Given the description of an element on the screen output the (x, y) to click on. 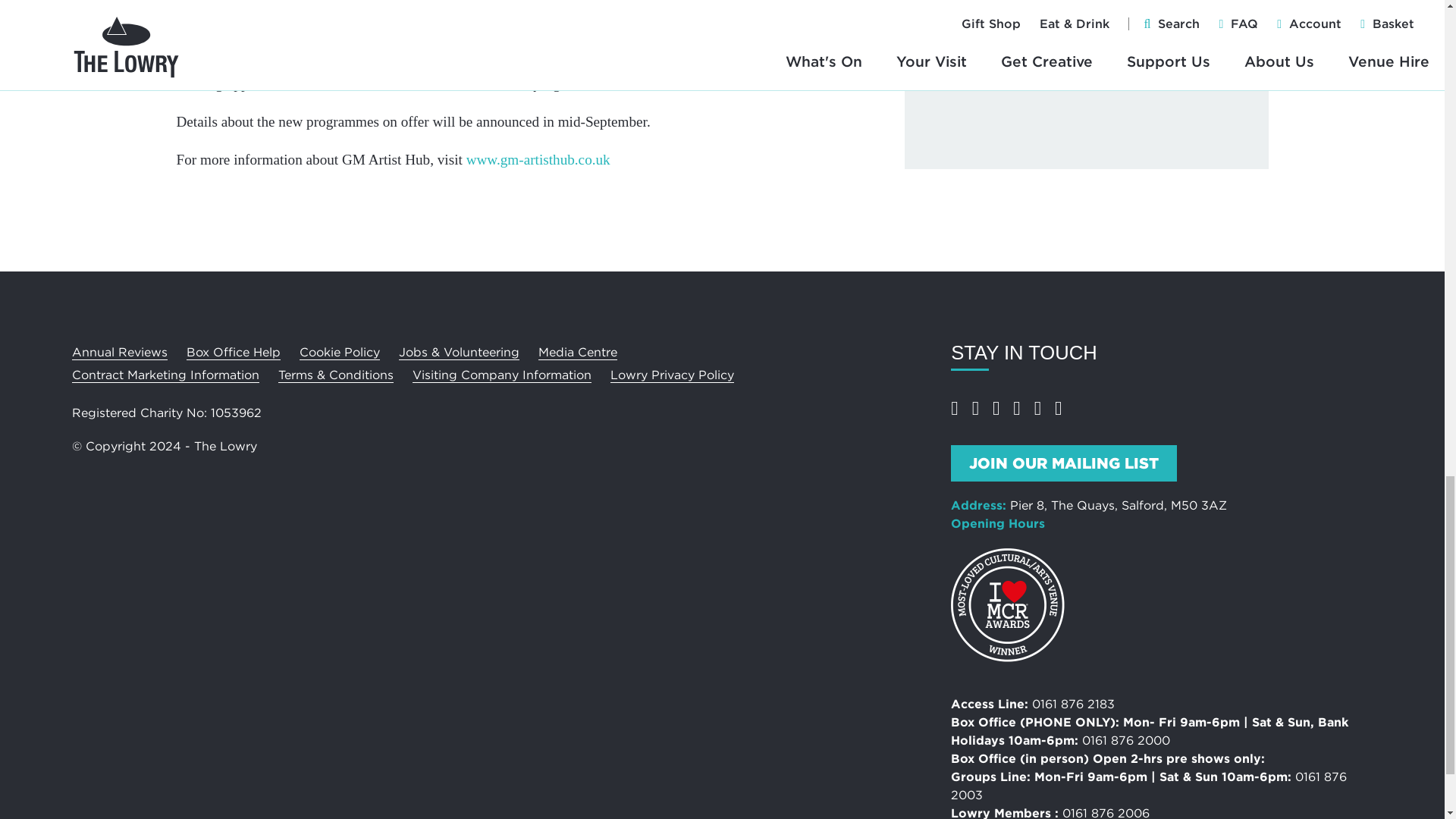
www.gm-artisthub.co.uk (537, 159)
